Given the description of an element on the screen output the (x, y) to click on. 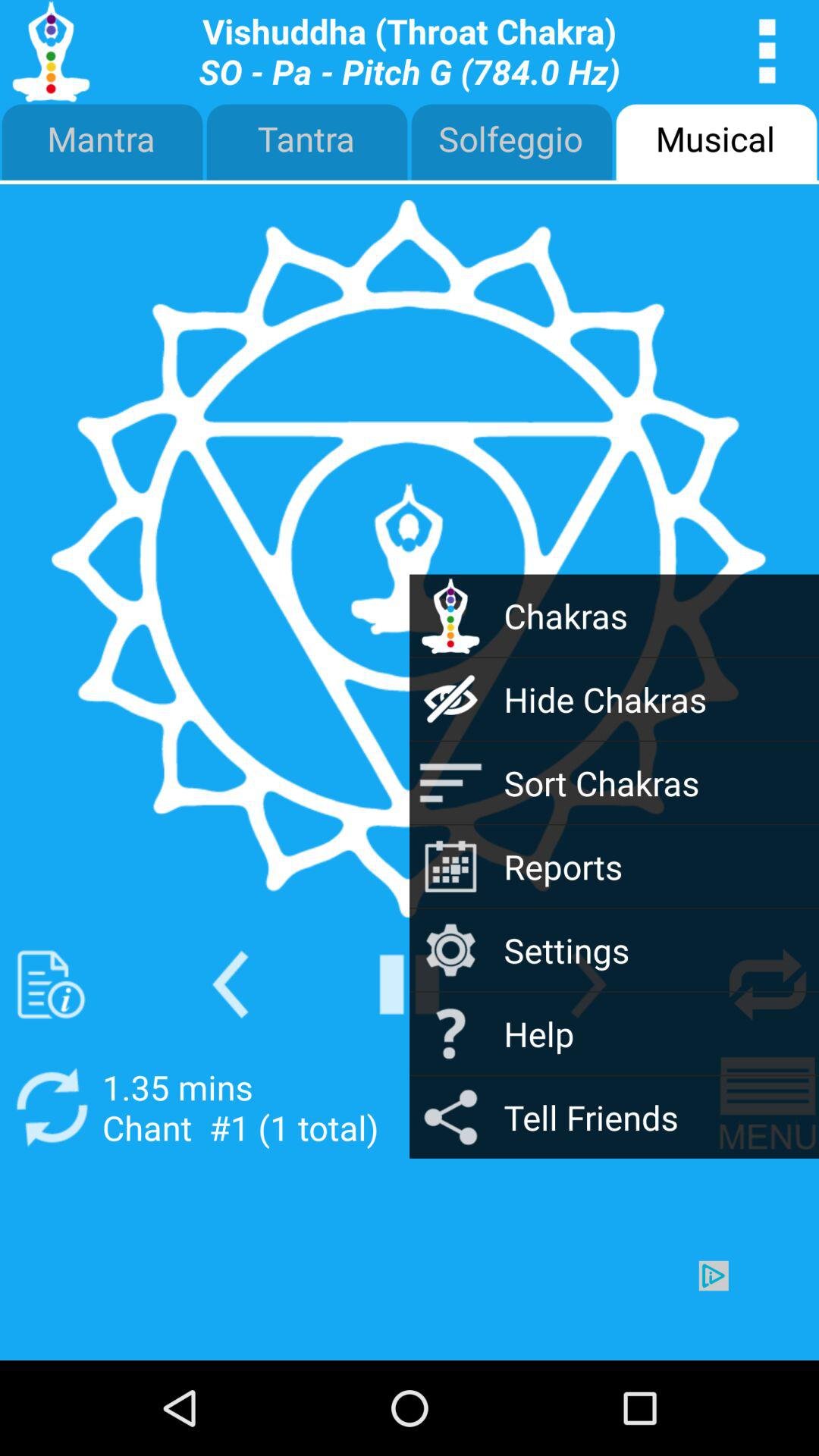
back face (230, 984)
